Given the description of an element on the screen output the (x, y) to click on. 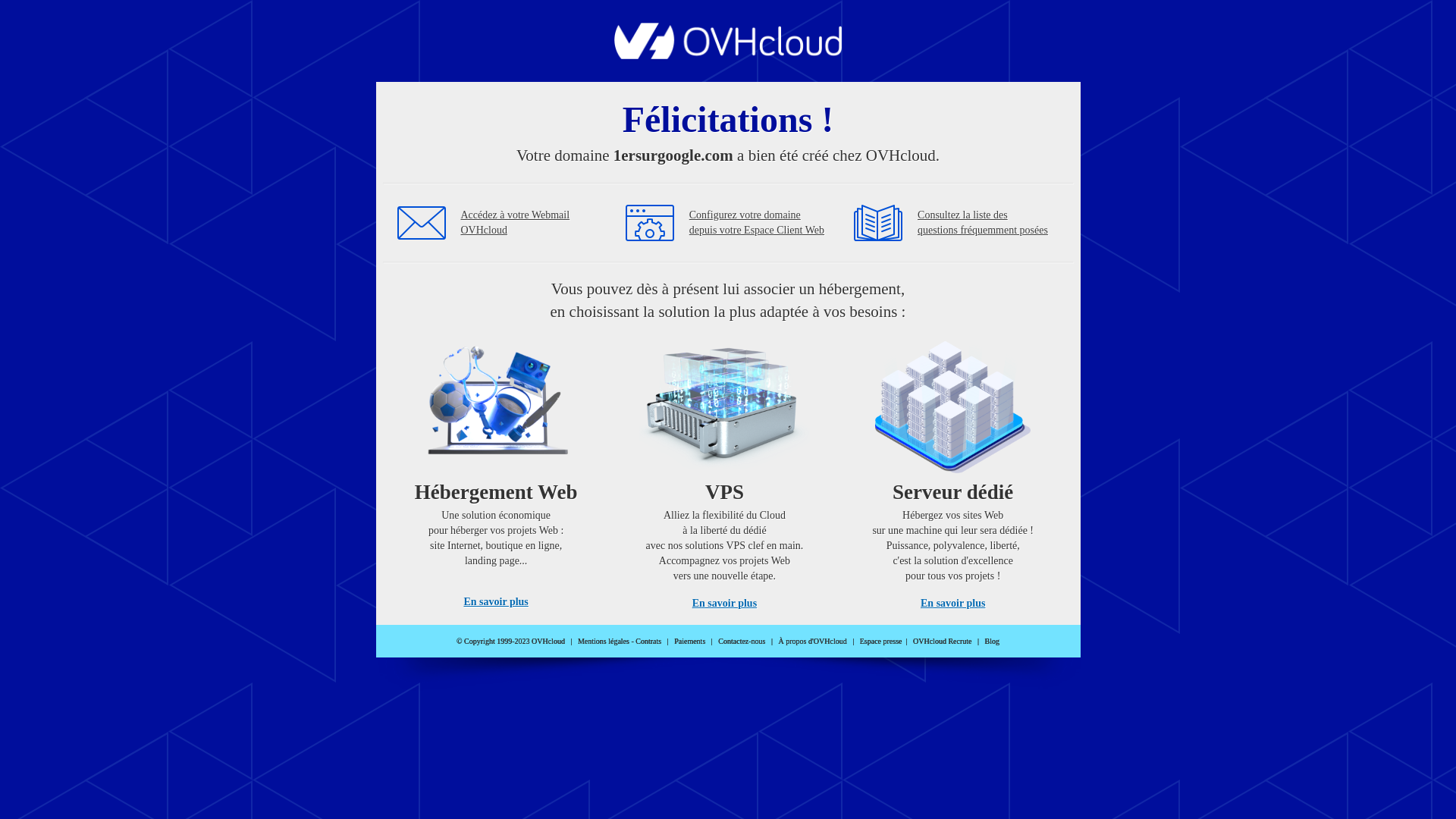
VPS Element type: hover (724, 469)
En savoir plus Element type: text (495, 601)
Blog Element type: text (992, 641)
Configurez votre domaine
depuis votre Espace Client Web Element type: text (756, 222)
En savoir plus Element type: text (952, 602)
OVHcloud Recrute Element type: text (942, 641)
OVHcloud Element type: hover (727, 54)
En savoir plus Element type: text (724, 602)
Espace presse Element type: text (880, 641)
Paiements Element type: text (689, 641)
Contactez-nous Element type: text (741, 641)
